Given the description of an element on the screen output the (x, y) to click on. 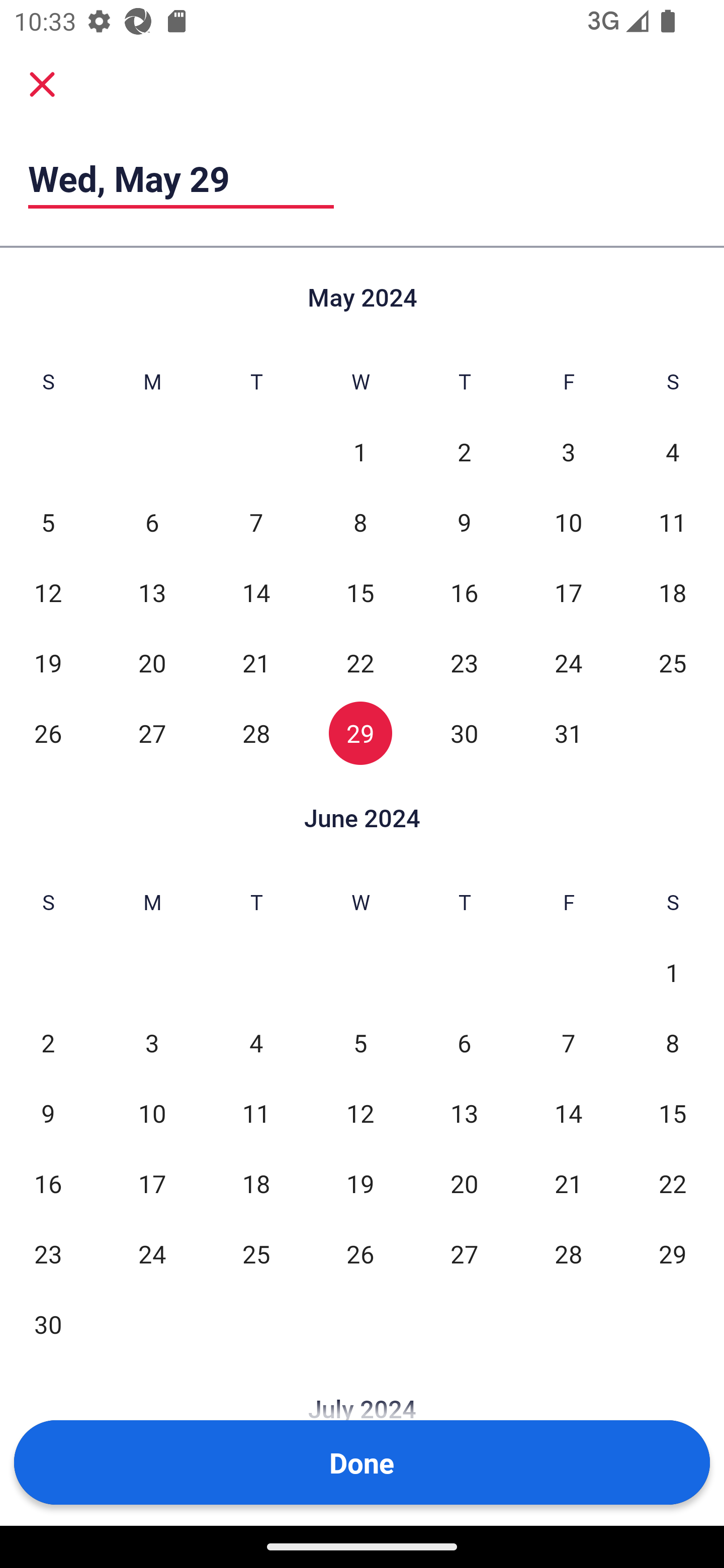
Cancel (41, 83)
Wed, May 29 (180, 178)
1 Wed, May 1, Not Selected (360, 452)
2 Thu, May 2, Not Selected (464, 452)
3 Fri, May 3, Not Selected (568, 452)
4 Sat, May 4, Not Selected (672, 452)
5 Sun, May 5, Not Selected (48, 521)
6 Mon, May 6, Not Selected (152, 521)
7 Tue, May 7, Not Selected (256, 521)
8 Wed, May 8, Not Selected (360, 521)
9 Thu, May 9, Not Selected (464, 521)
10 Fri, May 10, Not Selected (568, 521)
11 Sat, May 11, Not Selected (672, 521)
12 Sun, May 12, Not Selected (48, 591)
13 Mon, May 13, Not Selected (152, 591)
14 Tue, May 14, Not Selected (256, 591)
15 Wed, May 15, Not Selected (360, 591)
16 Thu, May 16, Not Selected (464, 591)
17 Fri, May 17, Not Selected (568, 591)
18 Sat, May 18, Not Selected (672, 591)
19 Sun, May 19, Not Selected (48, 662)
20 Mon, May 20, Not Selected (152, 662)
21 Tue, May 21, Not Selected (256, 662)
22 Wed, May 22, Not Selected (360, 662)
23 Thu, May 23, Not Selected (464, 662)
24 Fri, May 24, Not Selected (568, 662)
25 Sat, May 25, Not Selected (672, 662)
26 Sun, May 26, Not Selected (48, 732)
27 Mon, May 27, Not Selected (152, 732)
28 Tue, May 28, Not Selected (256, 732)
29 Wed, May 29, Selected (360, 732)
30 Thu, May 30, Not Selected (464, 732)
31 Fri, May 31, Not Selected (568, 732)
1 Sat, Jun 1, Not Selected (672, 972)
2 Sun, Jun 2, Not Selected (48, 1043)
3 Mon, Jun 3, Not Selected (152, 1043)
4 Tue, Jun 4, Not Selected (256, 1043)
5 Wed, Jun 5, Not Selected (360, 1043)
6 Thu, Jun 6, Not Selected (464, 1043)
7 Fri, Jun 7, Not Selected (568, 1043)
8 Sat, Jun 8, Not Selected (672, 1043)
9 Sun, Jun 9, Not Selected (48, 1112)
10 Mon, Jun 10, Not Selected (152, 1112)
11 Tue, Jun 11, Not Selected (256, 1112)
12 Wed, Jun 12, Not Selected (360, 1112)
13 Thu, Jun 13, Not Selected (464, 1112)
14 Fri, Jun 14, Not Selected (568, 1112)
15 Sat, Jun 15, Not Selected (672, 1112)
16 Sun, Jun 16, Not Selected (48, 1182)
17 Mon, Jun 17, Not Selected (152, 1182)
18 Tue, Jun 18, Not Selected (256, 1182)
19 Wed, Jun 19, Not Selected (360, 1182)
20 Thu, Jun 20, Not Selected (464, 1182)
21 Fri, Jun 21, Not Selected (568, 1182)
22 Sat, Jun 22, Not Selected (672, 1182)
23 Sun, Jun 23, Not Selected (48, 1253)
24 Mon, Jun 24, Not Selected (152, 1253)
25 Tue, Jun 25, Not Selected (256, 1253)
26 Wed, Jun 26, Not Selected (360, 1253)
27 Thu, Jun 27, Not Selected (464, 1253)
28 Fri, Jun 28, Not Selected (568, 1253)
29 Sat, Jun 29, Not Selected (672, 1253)
30 Sun, Jun 30, Not Selected (48, 1323)
Done Button Done (361, 1462)
